Given the description of an element on the screen output the (x, y) to click on. 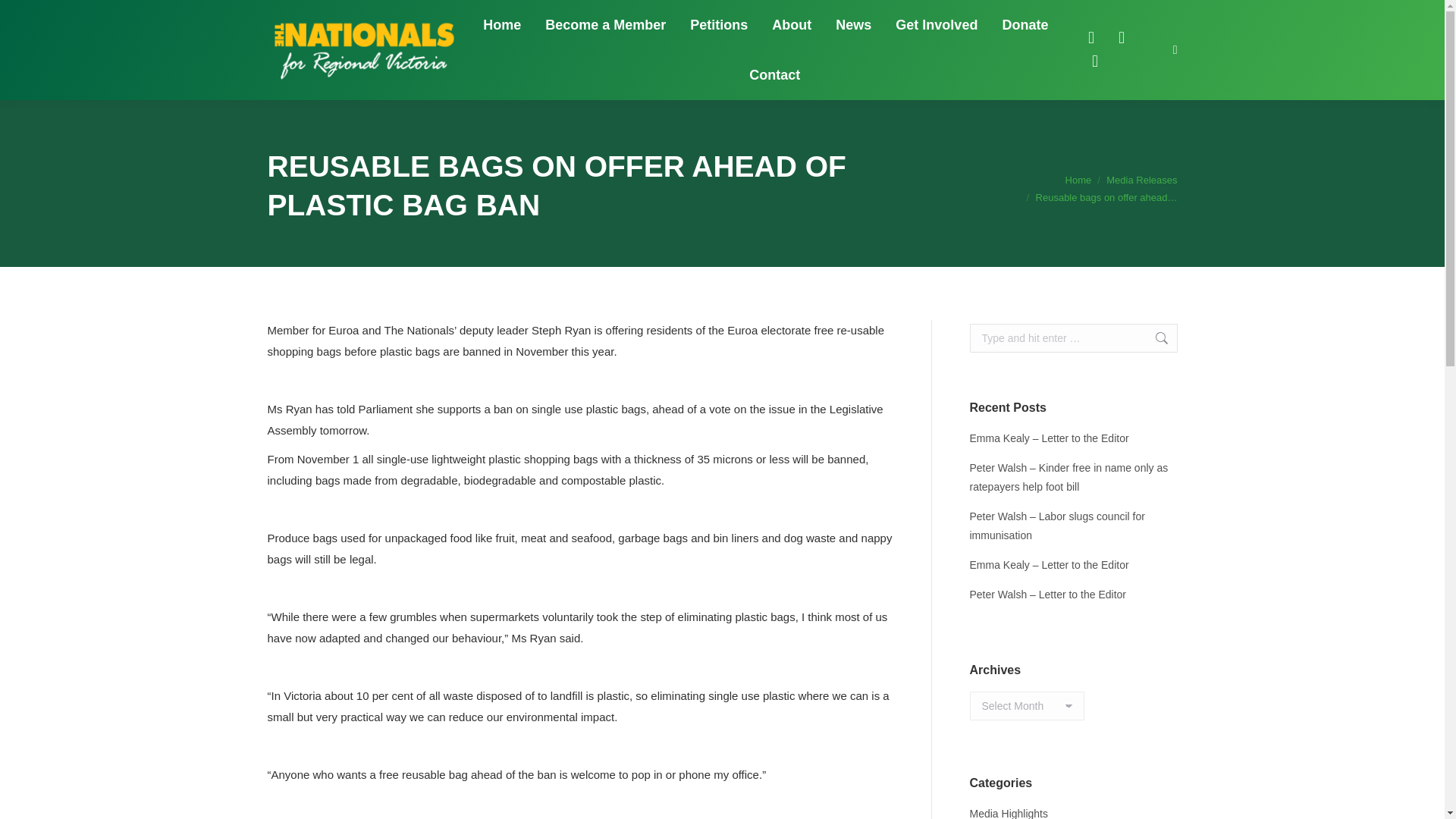
YouTube page opens in new window (1094, 60)
X page opens in new window (1120, 37)
Get Involved (935, 24)
YouTube page opens in new window (1094, 60)
Contact (774, 74)
Go! (1153, 337)
Become a Member (604, 24)
About (790, 24)
Petitions (719, 24)
Donate (1024, 24)
